Given the description of an element on the screen output the (x, y) to click on. 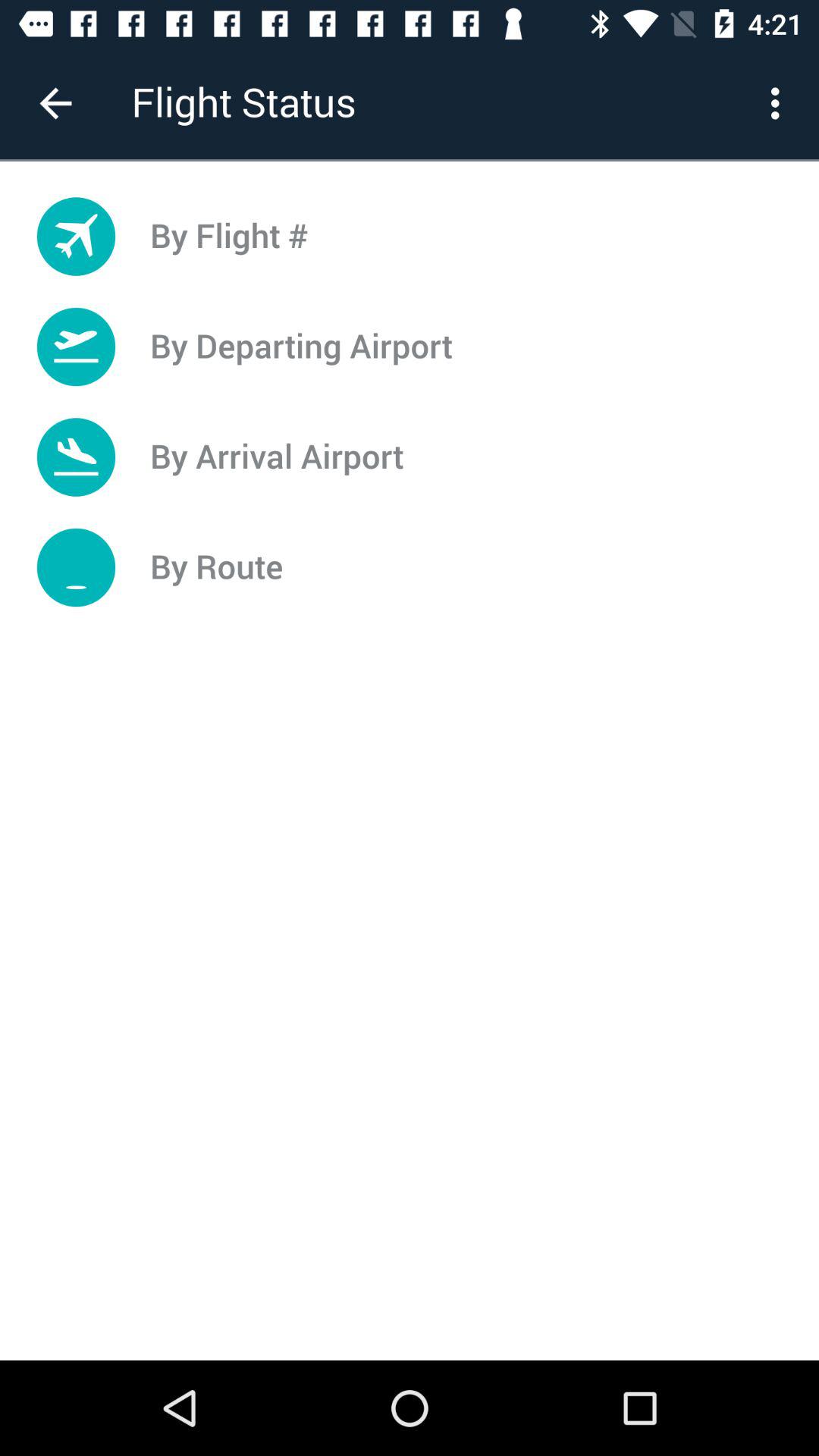
select the icon next to flight status (55, 103)
